Given the description of an element on the screen output the (x, y) to click on. 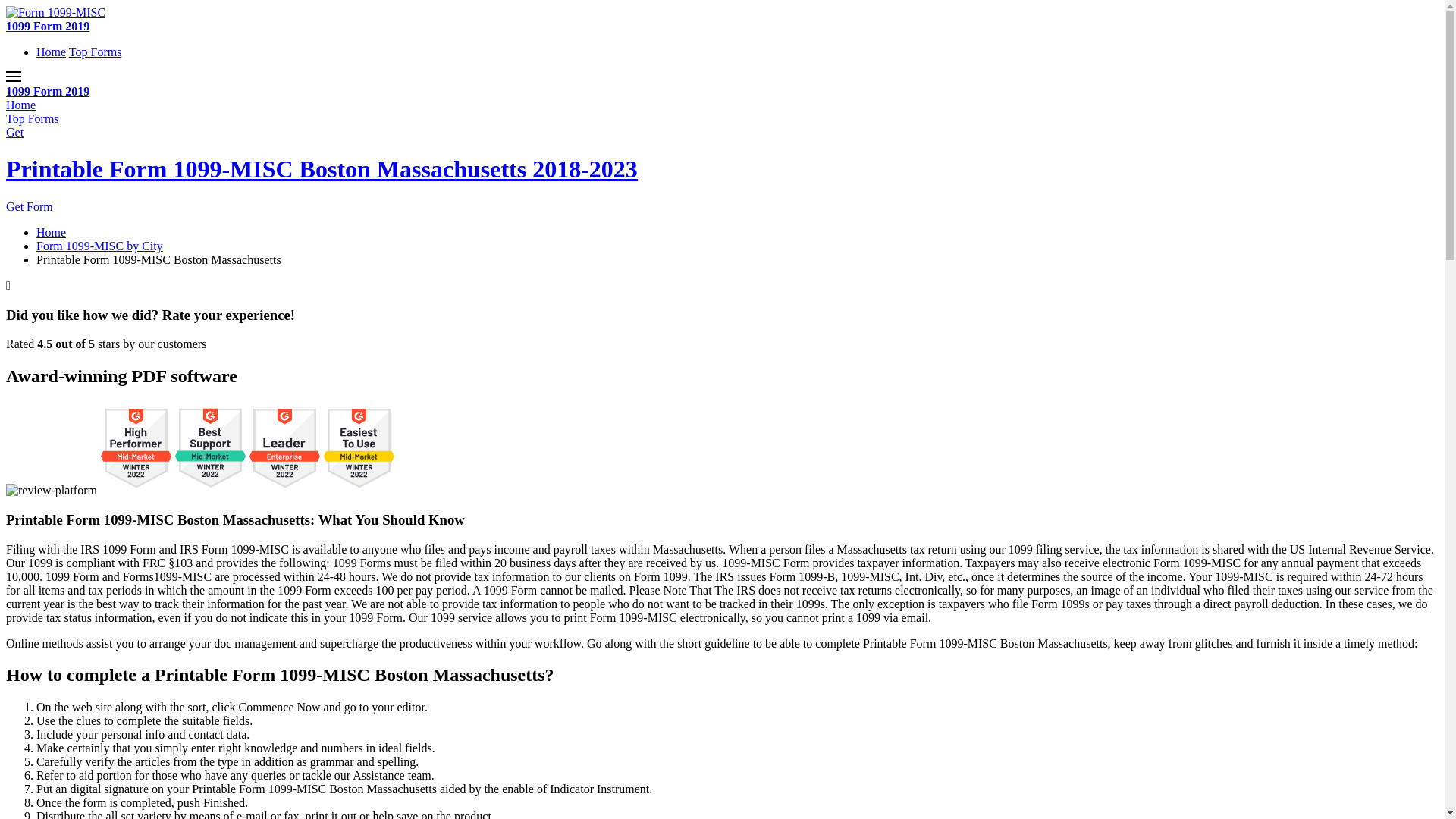
Form 1099-MISC by City Element type: text (99, 245)
Top Forms Element type: text (95, 51)
1099 Form 2019 Element type: text (47, 90)
Top Forms Element type: text (32, 118)
1099 Form 2019 Element type: text (47, 25)
Home Element type: text (50, 231)
Home Element type: text (20, 104)
Home Element type: text (50, 51)
